Given the description of an element on the screen output the (x, y) to click on. 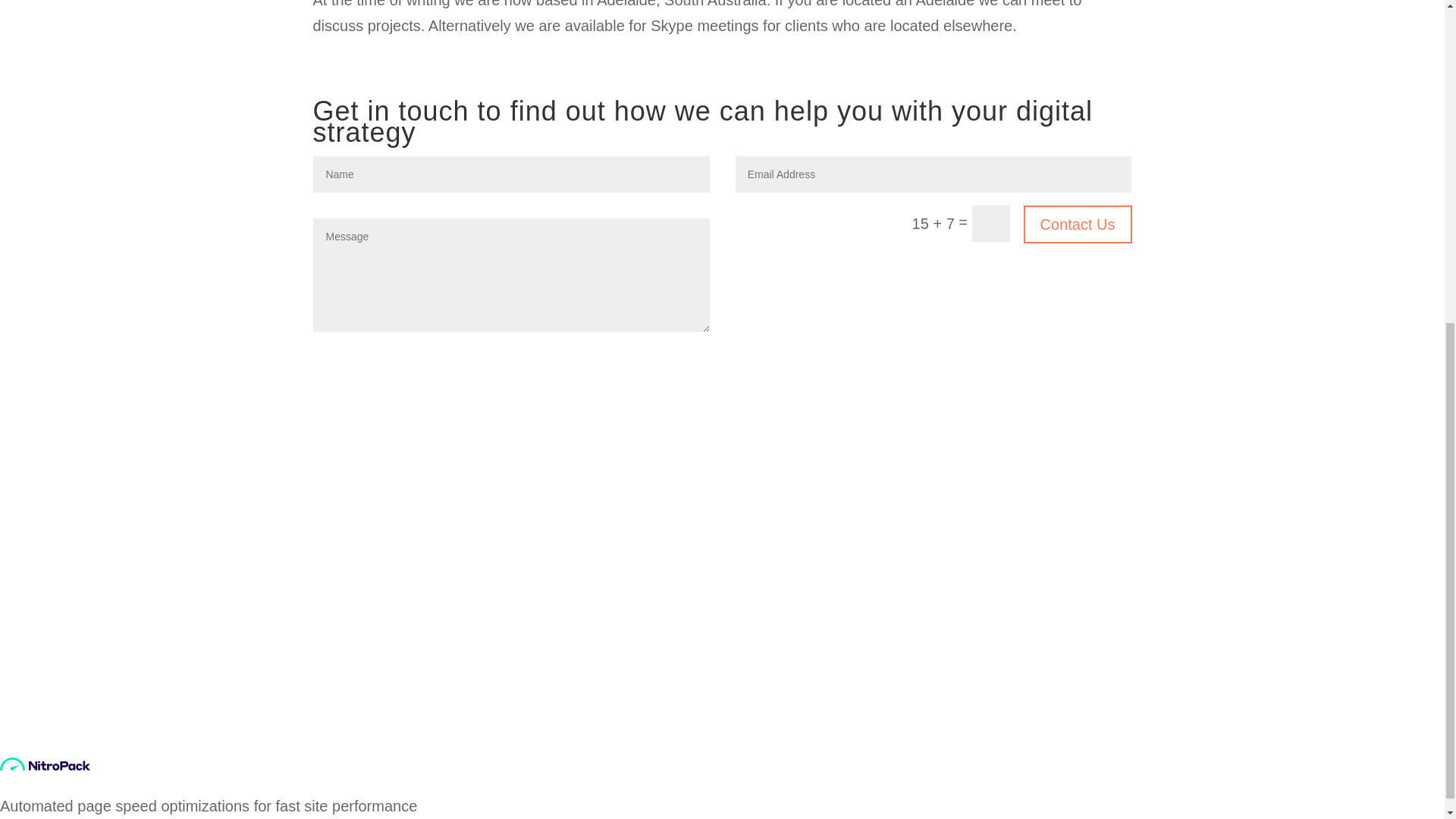
Contact Us (1077, 224)
